Given the description of an element on the screen output the (x, y) to click on. 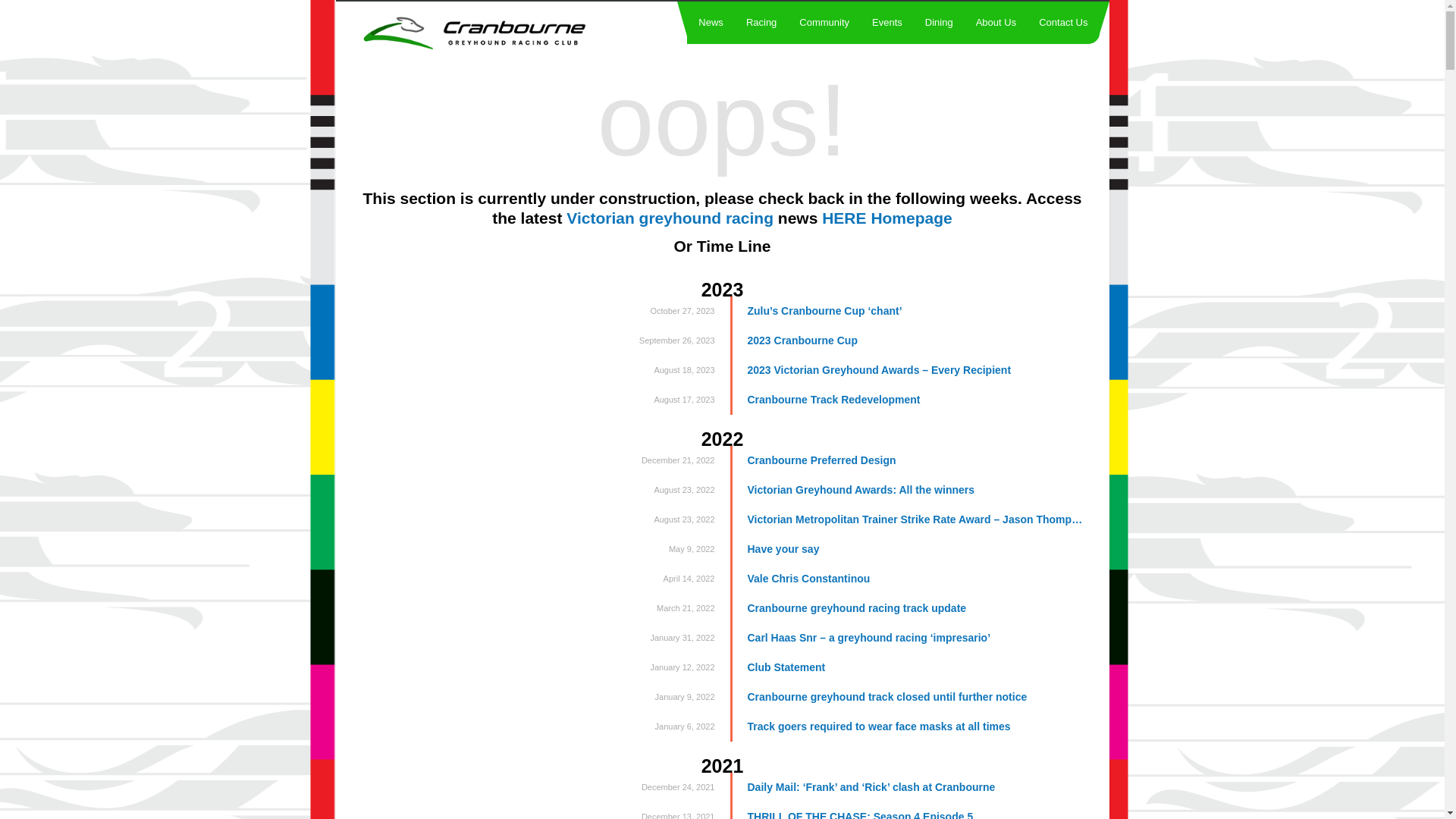
Community Element type: text (823, 22)
2023 Cranbourne Cup Element type: text (906, 340)
Dining Element type: text (938, 22)
Events Element type: text (886, 22)
Victorian greyhound racing Element type: text (669, 217)
News Element type: text (710, 22)
Cranbourne Preferred Design Element type: text (906, 460)
Have your say Element type: text (906, 549)
Cranbourne greyhound racing track update Element type: text (906, 608)
About Us Element type: text (995, 22)
Victorian Greyhound Awards: All the winners Element type: text (906, 490)
Club Statement Element type: text (906, 667)
Homepage Element type: text (910, 217)
Cranbourne Track Redevelopment Element type: text (906, 399)
Contact Us Element type: text (1062, 22)
Track goers required to wear face masks at all times Element type: text (906, 726)
Racing Element type: text (760, 22)
Cranbourne greyhound track closed until further notice Element type: text (906, 697)
Vale Chris Constantinou Element type: text (906, 578)
Cranbourne Greyhound Racing Club Element type: hover (503, 31)
HERE Element type: text (844, 217)
